Given the description of an element on the screen output the (x, y) to click on. 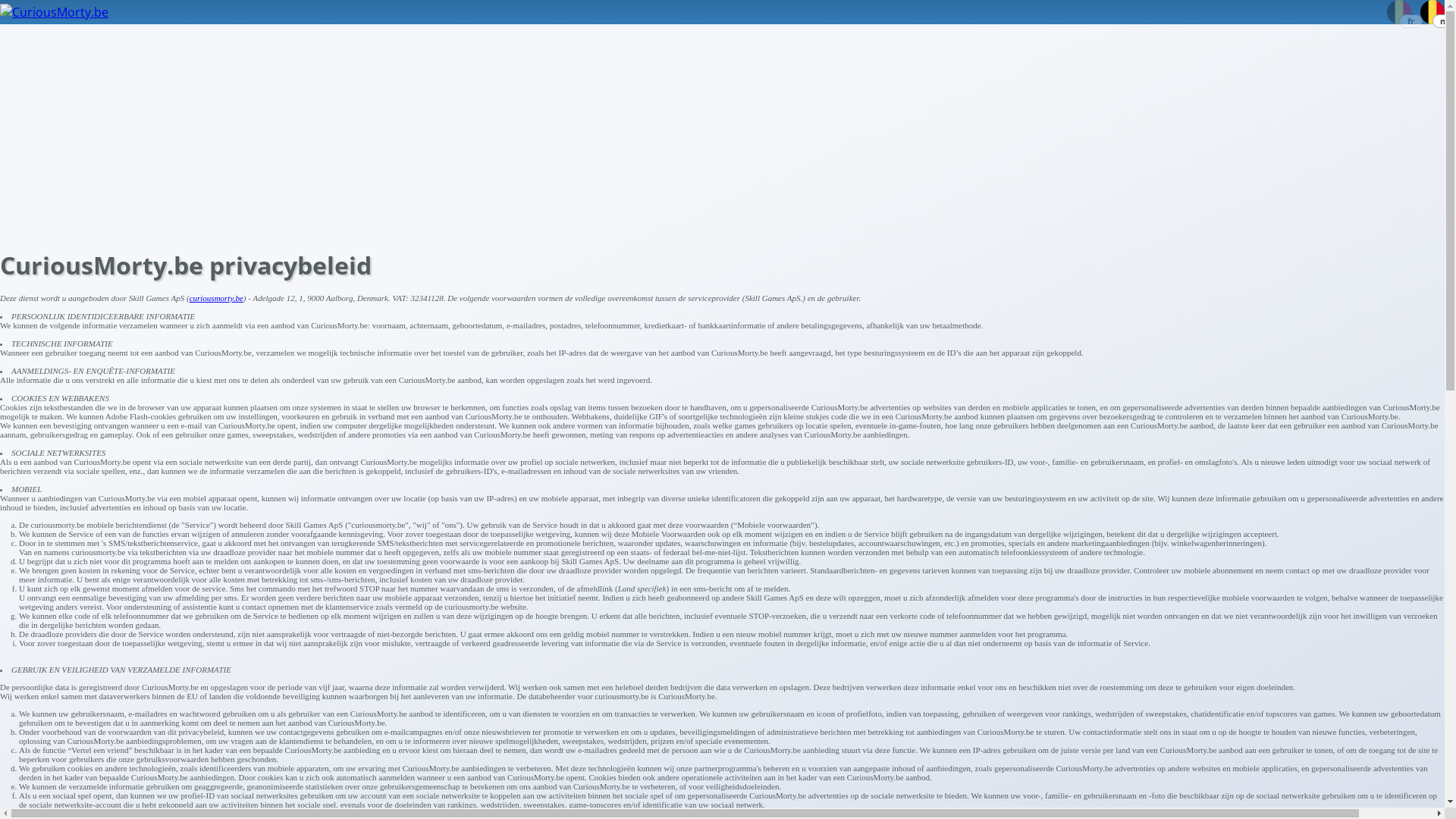
nl Element type: text (1432, 8)
curiousmorty.be Element type: text (216, 297)
Advertisement Element type: hover (455, 130)
fr Element type: text (1400, 8)
